Given the description of an element on the screen output the (x, y) to click on. 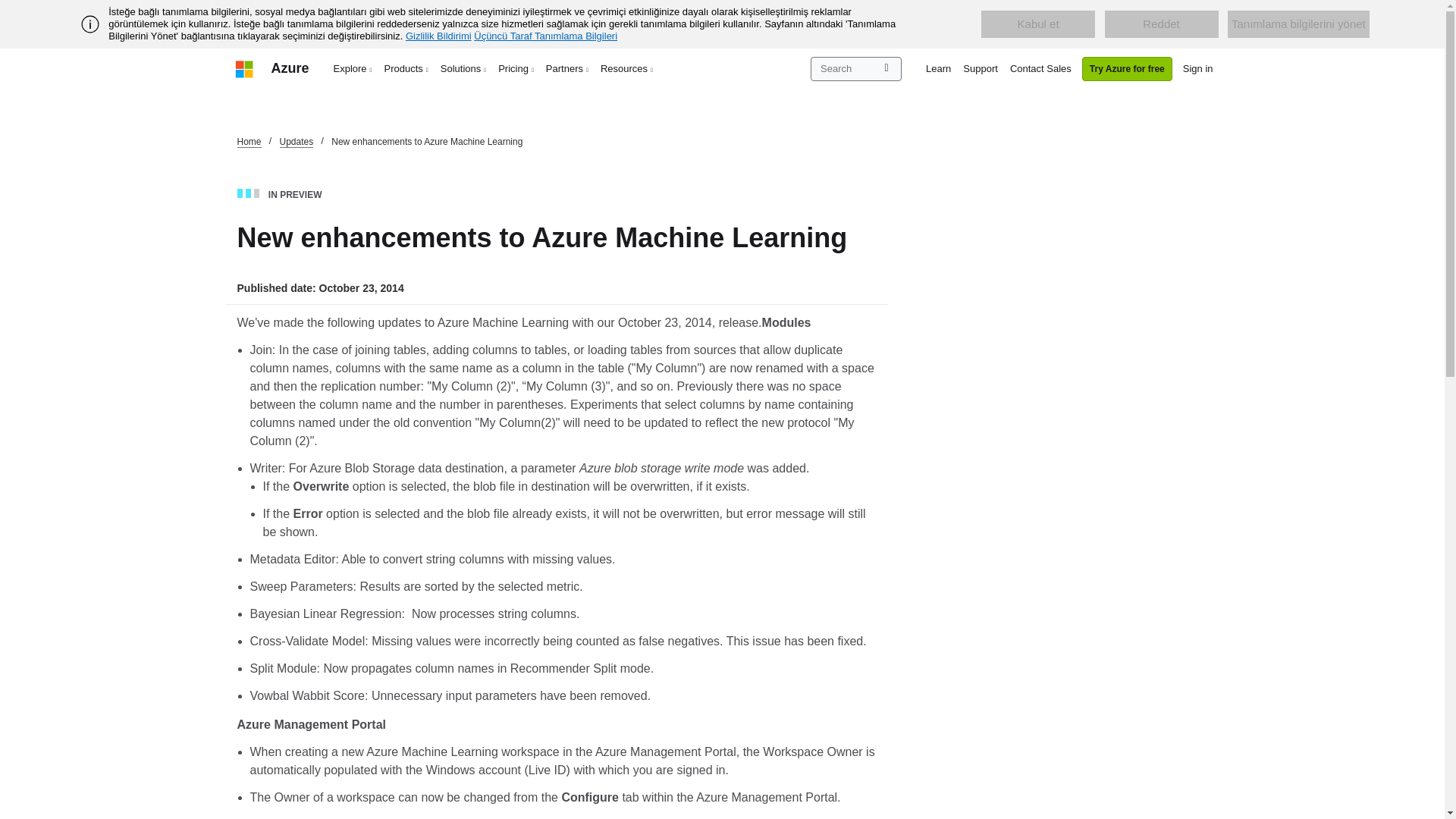
Kabul et (1037, 23)
Explore (352, 68)
Azure (289, 68)
Products (405, 68)
Reddet (1161, 23)
Gizlilik Bildirimi (438, 35)
Skip to main content (7, 7)
